Given the description of an element on the screen output the (x, y) to click on. 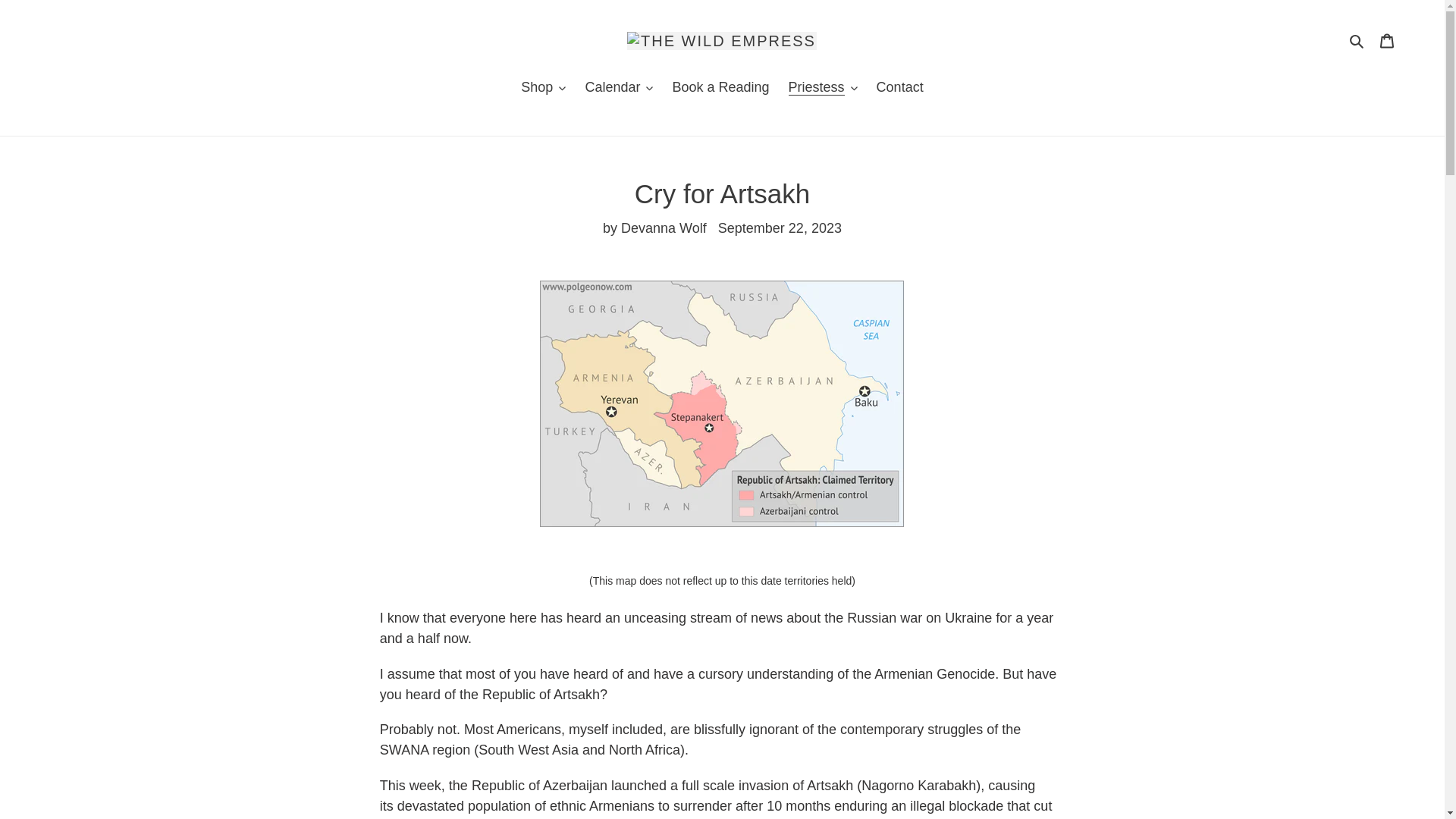
Cart (1387, 40)
Search (1357, 40)
